Given the description of an element on the screen output the (x, y) to click on. 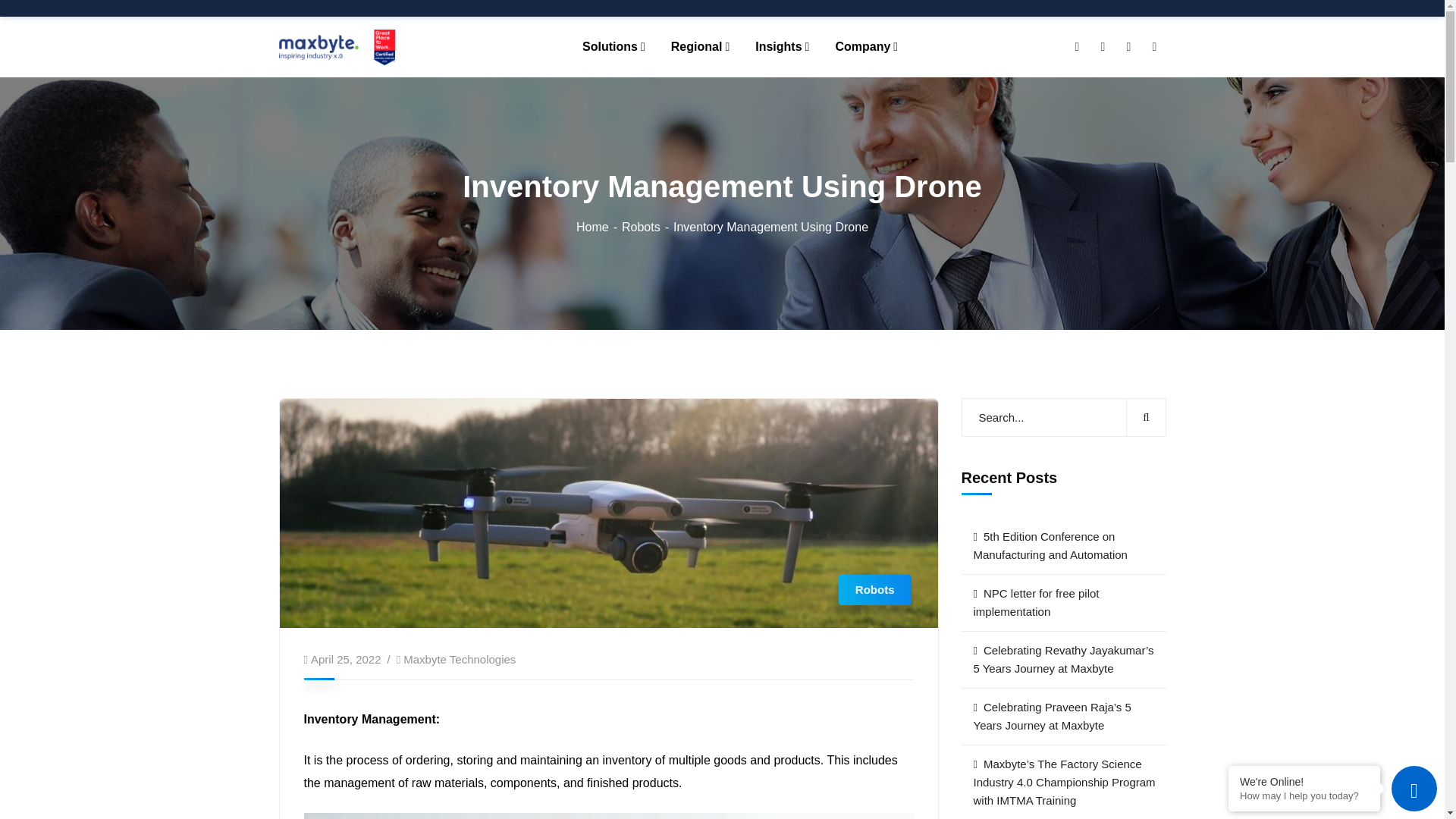
Regional (700, 46)
How may I help you today? (1304, 795)
Solutions (613, 46)
We're Online! (1304, 781)
Company (866, 46)
Home (598, 226)
Posts by Maxbyte Technologies (459, 658)
Inspiring Industry X.0 (336, 45)
